Given the description of an element on the screen output the (x, y) to click on. 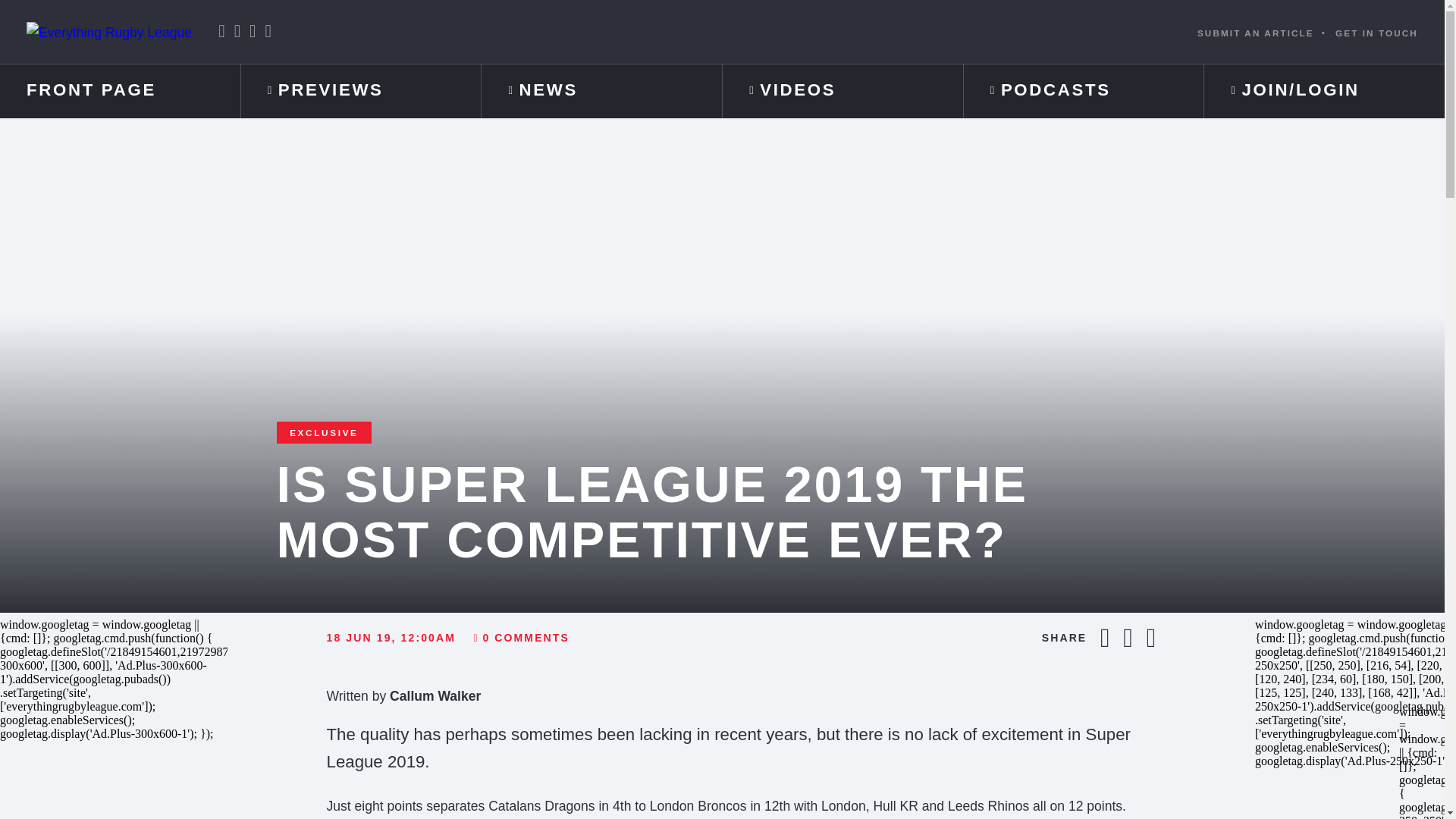
FRONT PAGE (120, 90)
NEWS (601, 90)
PODCASTS (1083, 90)
PREVIEWS (361, 90)
VIDEOS (842, 90)
EXCLUSIVE (324, 432)
0 COMMENTS (521, 637)
SUBMIT AN ARTICLE (1255, 32)
GET IN TOUCH (1376, 32)
